Given the description of an element on the screen output the (x, y) to click on. 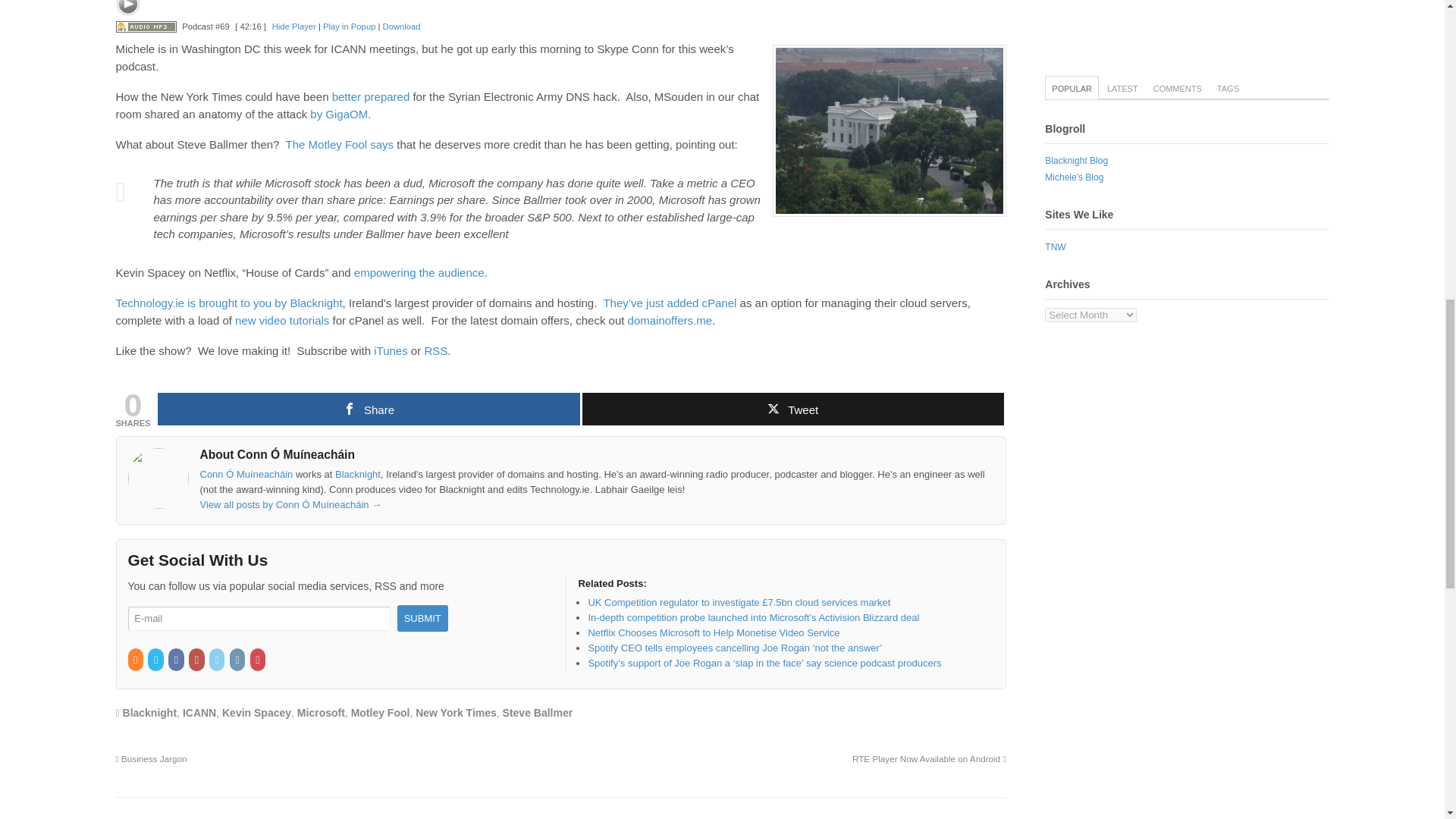
Share (368, 409)
Facebook (177, 659)
Hide Player (293, 26)
The Motley Fool says (339, 144)
Download (401, 26)
Play in Popup (349, 26)
RSS (434, 350)
iTunes (390, 350)
empowering the audience (418, 272)
E-mail (259, 618)
